Given the description of an element on the screen output the (x, y) to click on. 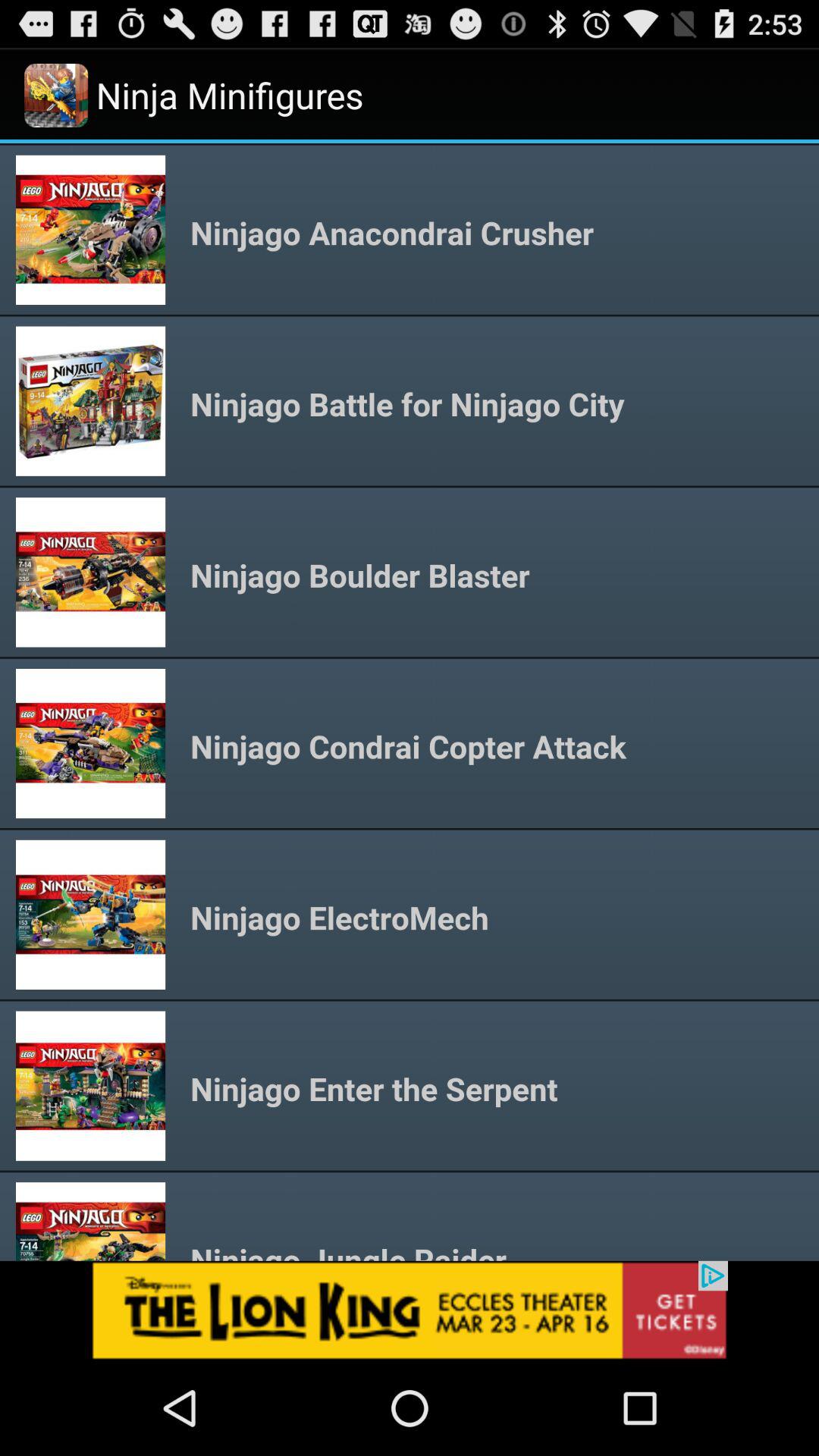
choose minifigure (409, 701)
